Given the description of an element on the screen output the (x, y) to click on. 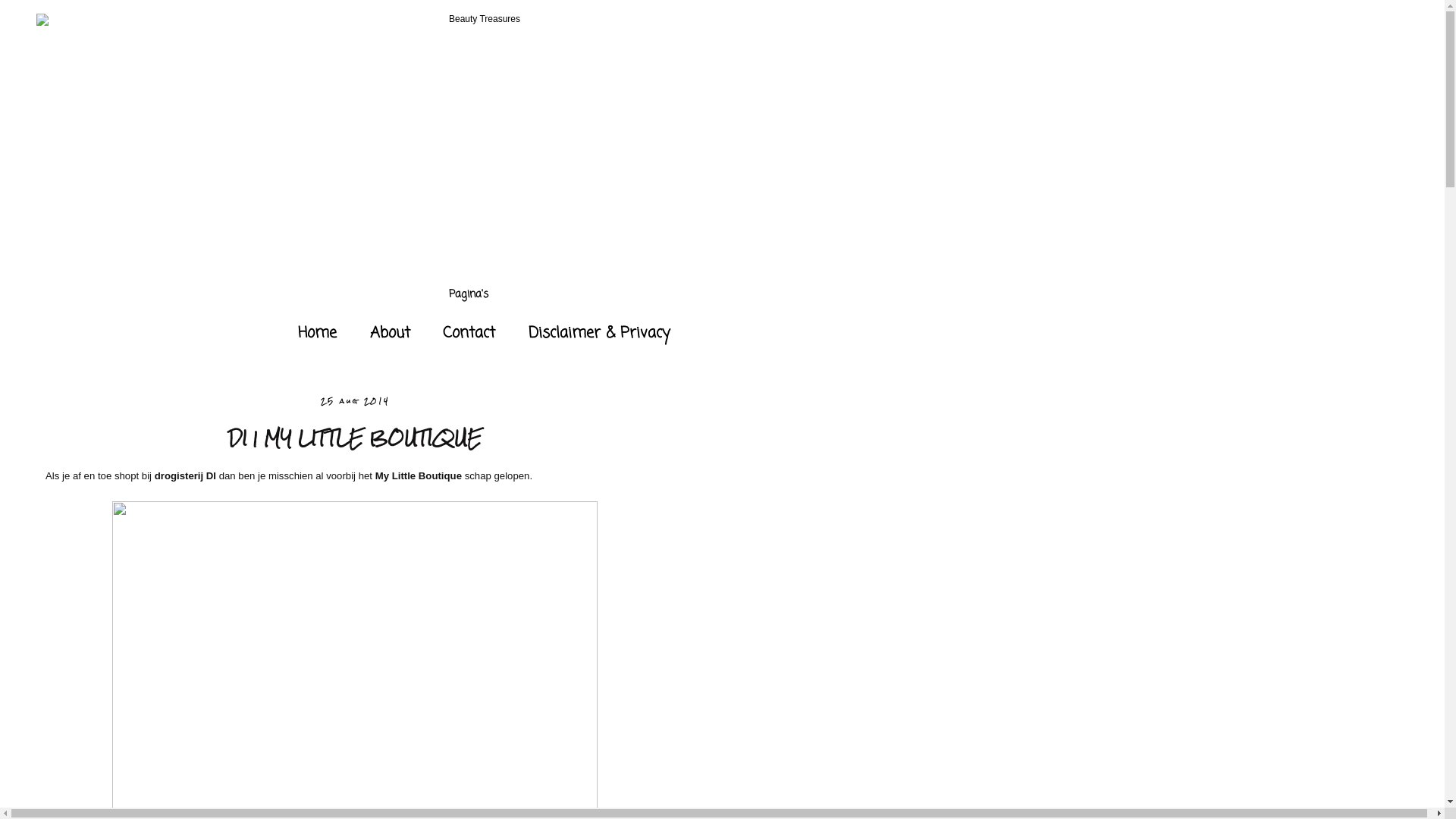
Home Element type: text (316, 333)
Disclaimer & Privacy Element type: text (598, 333)
Contact Element type: text (468, 333)
About Element type: text (389, 333)
